Given the description of an element on the screen output the (x, y) to click on. 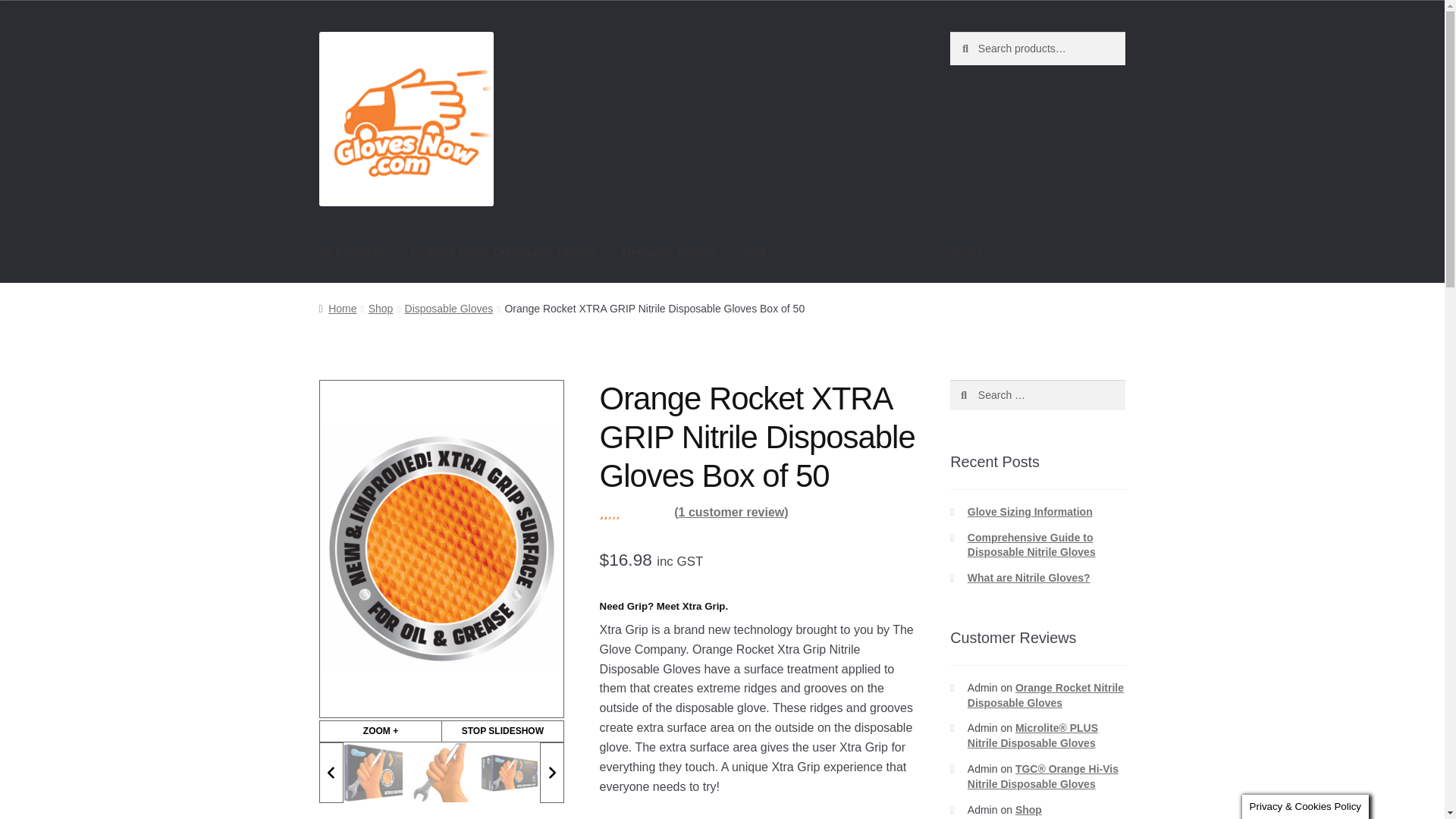
In-Stock Nitrile Disposable Gloves (502, 252)
Reusable Gloves (668, 252)
Home (337, 308)
Shop (380, 308)
All Products (351, 252)
View your shopping cart (1037, 252)
Disposable Gloves (448, 308)
